Given the description of an element on the screen output the (x, y) to click on. 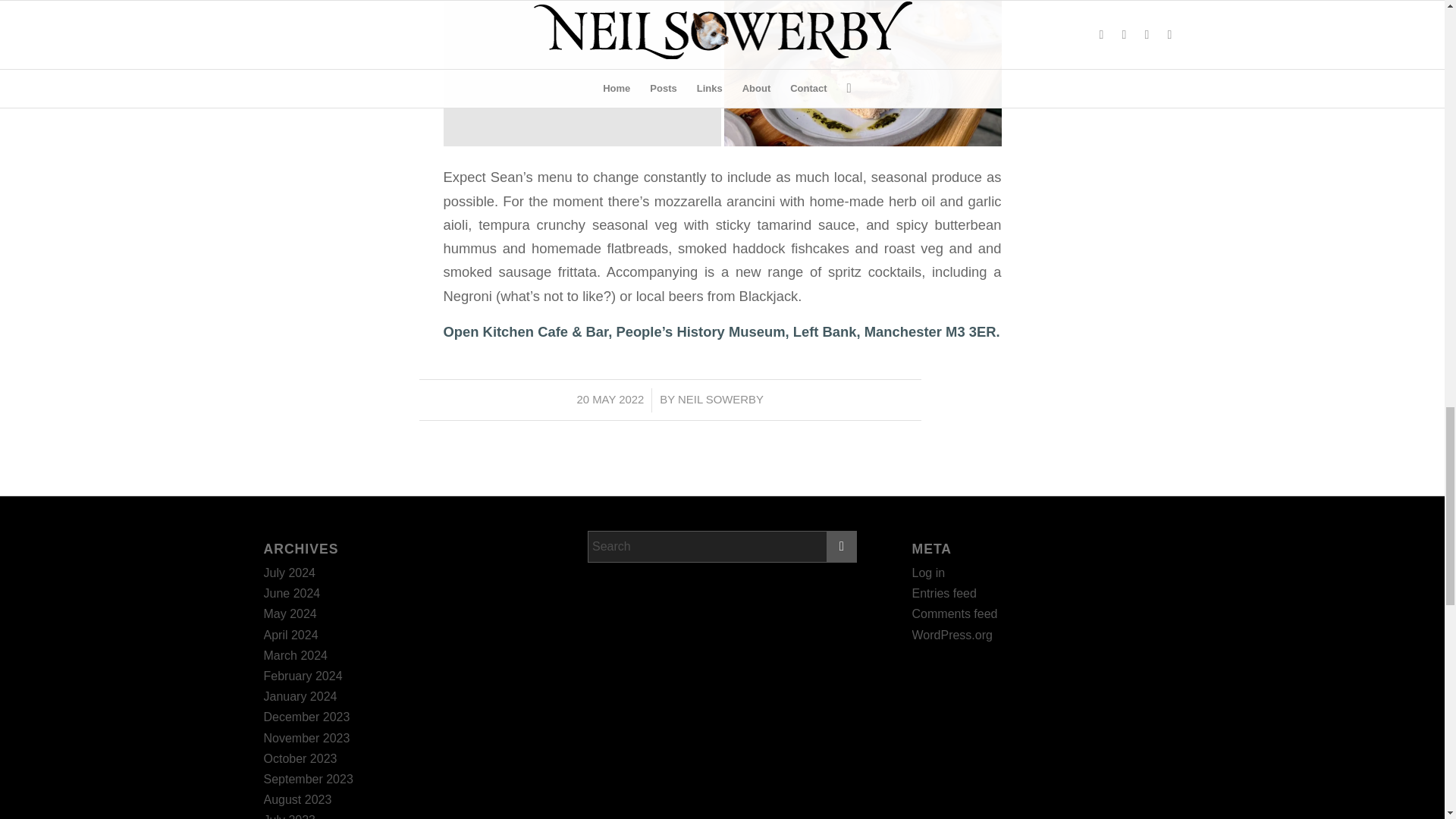
July 2024 (289, 572)
Posts by Neil Sowerby (720, 399)
August 2023 (297, 799)
July 2023 (289, 816)
June 2024 (291, 593)
May 2024 (290, 613)
September 2023 (308, 779)
January 2024 (300, 696)
February 2024 (302, 675)
December 2023 (306, 716)
November 2023 (306, 738)
Click to start search (842, 546)
NEIL SOWERBY (720, 399)
October 2023 (300, 758)
April 2024 (290, 634)
